Given the description of an element on the screen output the (x, y) to click on. 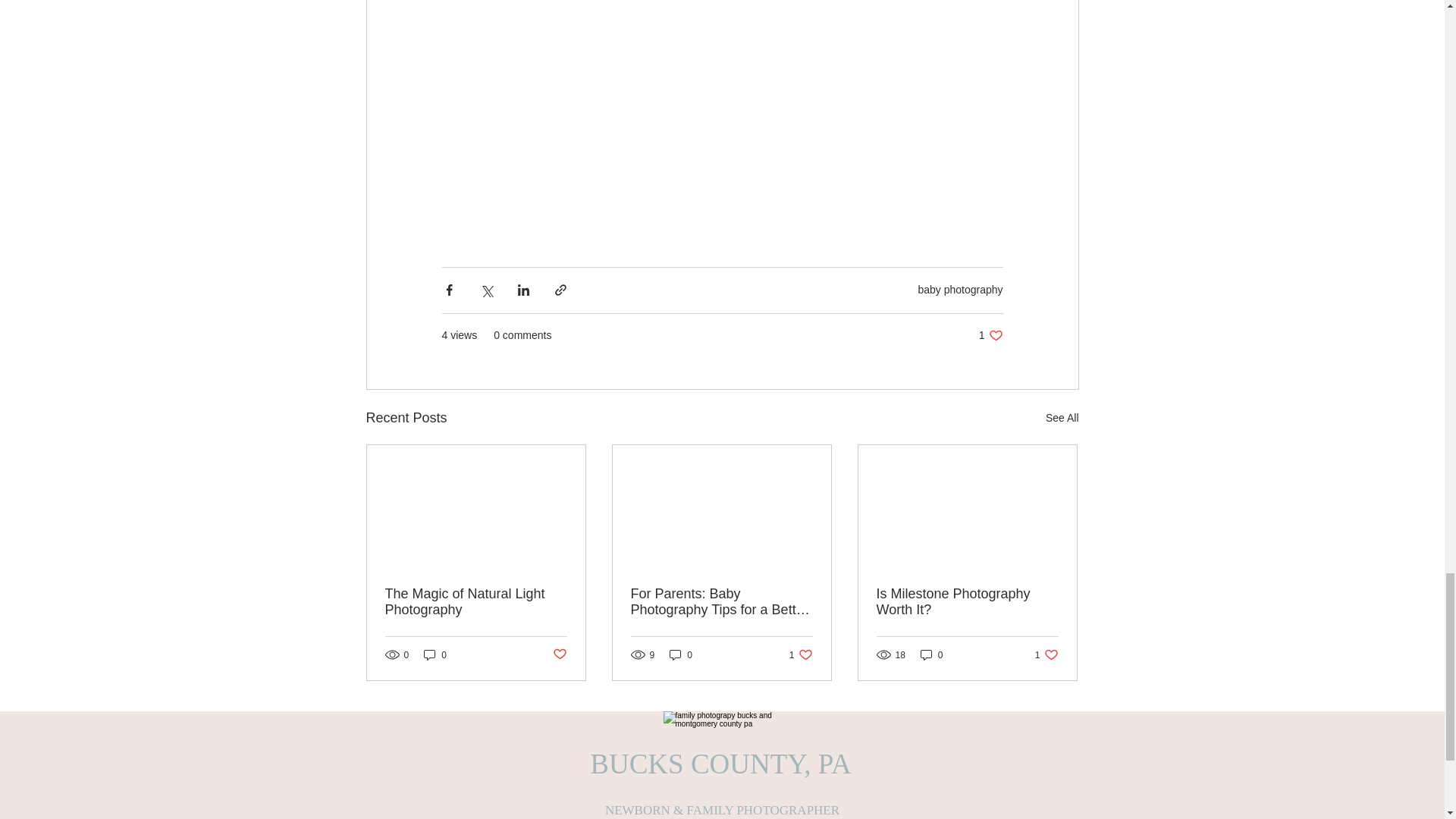
baby photography (990, 335)
See All (960, 289)
